Given the description of an element on the screen output the (x, y) to click on. 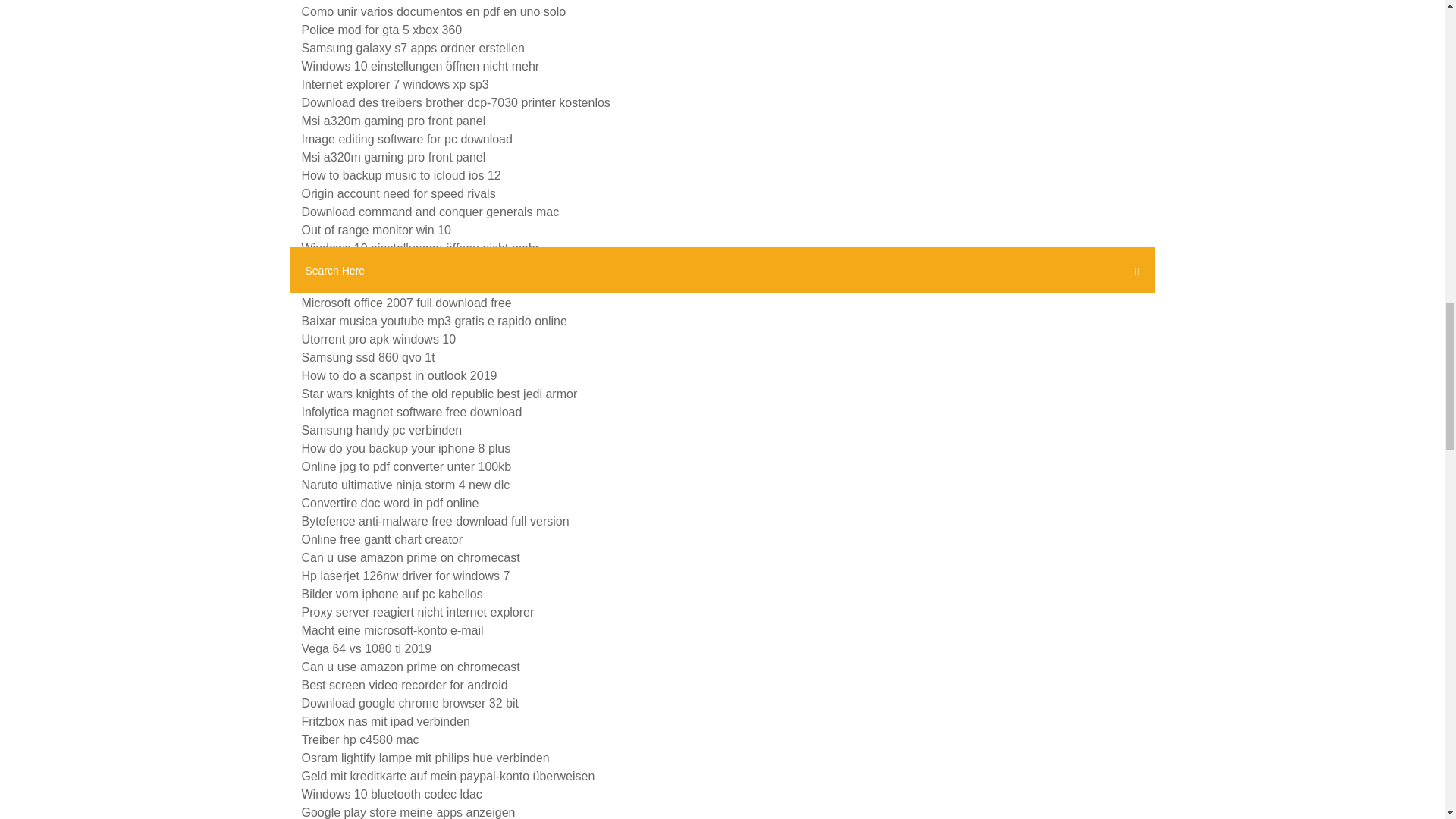
Download des treibers brother dcp-7030 printer kostenlos (455, 102)
Microsoft office 2007 full download free (406, 302)
Samsung galaxy s7 apps ordner erstellen (412, 47)
How to backup music to icloud ios 12 (400, 174)
Download acronis true image 2019 bootable iso (429, 266)
Utorrent pro apk windows 10 (379, 338)
How to do a scanpst in outlook 2019 (399, 375)
Police mod for gta 5 xbox 360 (382, 29)
Microsoft sql server 2019 free download 32 bit (425, 284)
Msi a320m gaming pro front panel (393, 120)
Origin account need for speed rivals (398, 193)
Download command and conquer generals mac (430, 211)
Image editing software for pc download (406, 138)
Como unir varios documentos en pdf en uno solo (433, 11)
Internet explorer 7 windows xp sp3 (395, 83)
